Given the description of an element on the screen output the (x, y) to click on. 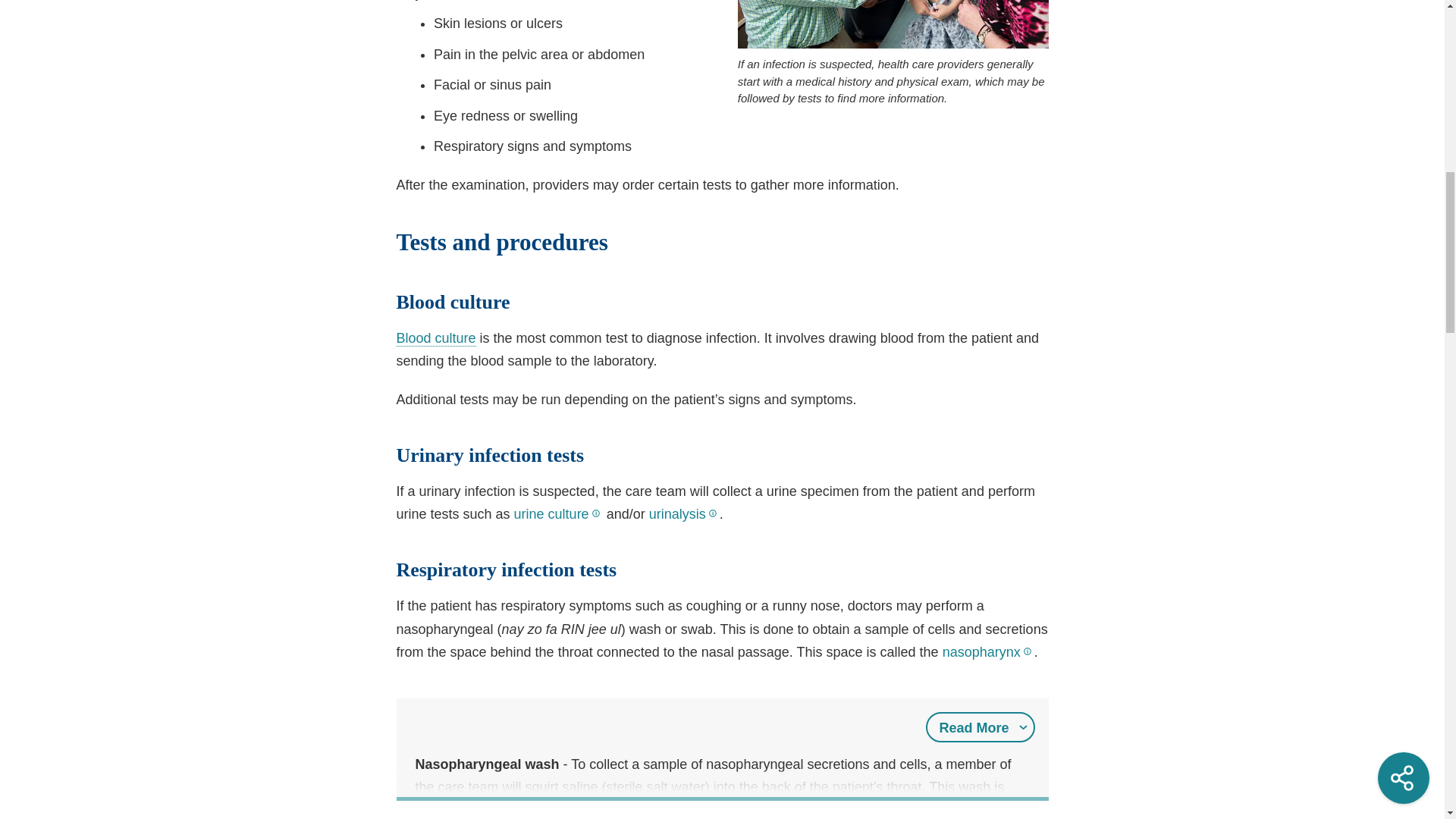
Blood Culture (436, 338)
Tests and procedures (722, 242)
